Given the description of an element on the screen output the (x, y) to click on. 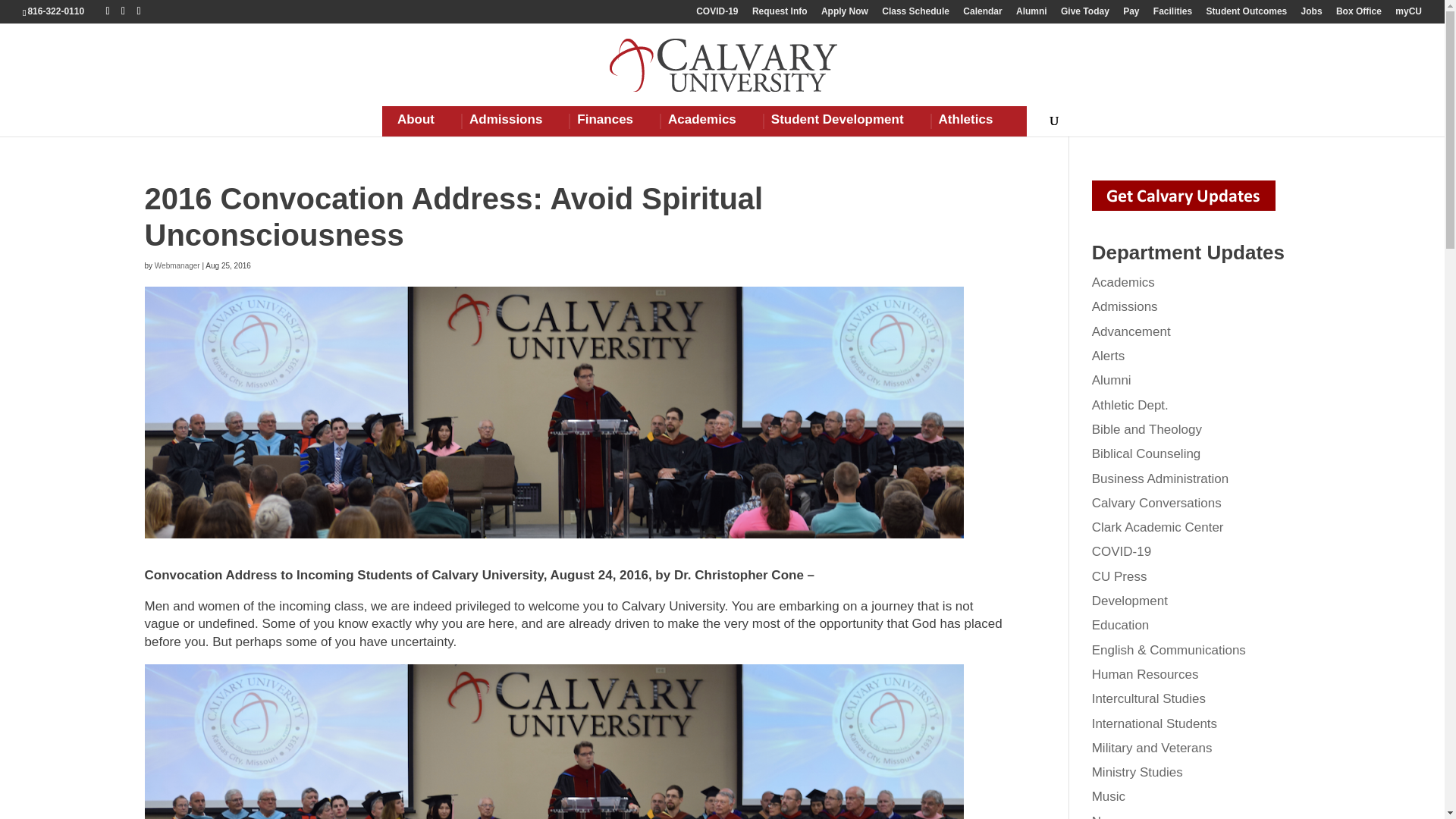
Box Office (1358, 14)
Give Today (1085, 14)
Apply Now (844, 14)
Facilities (1172, 14)
myCU (1408, 14)
Request Info (780, 14)
Pay (1130, 14)
Jobs (1311, 14)
Posts by Webmanager (177, 265)
Student Outcomes (1247, 14)
Alumni (1031, 14)
Calendar (981, 14)
Admissions (505, 120)
Class Schedule (915, 14)
COVID-19 (716, 14)
